Given the description of an element on the screen output the (x, y) to click on. 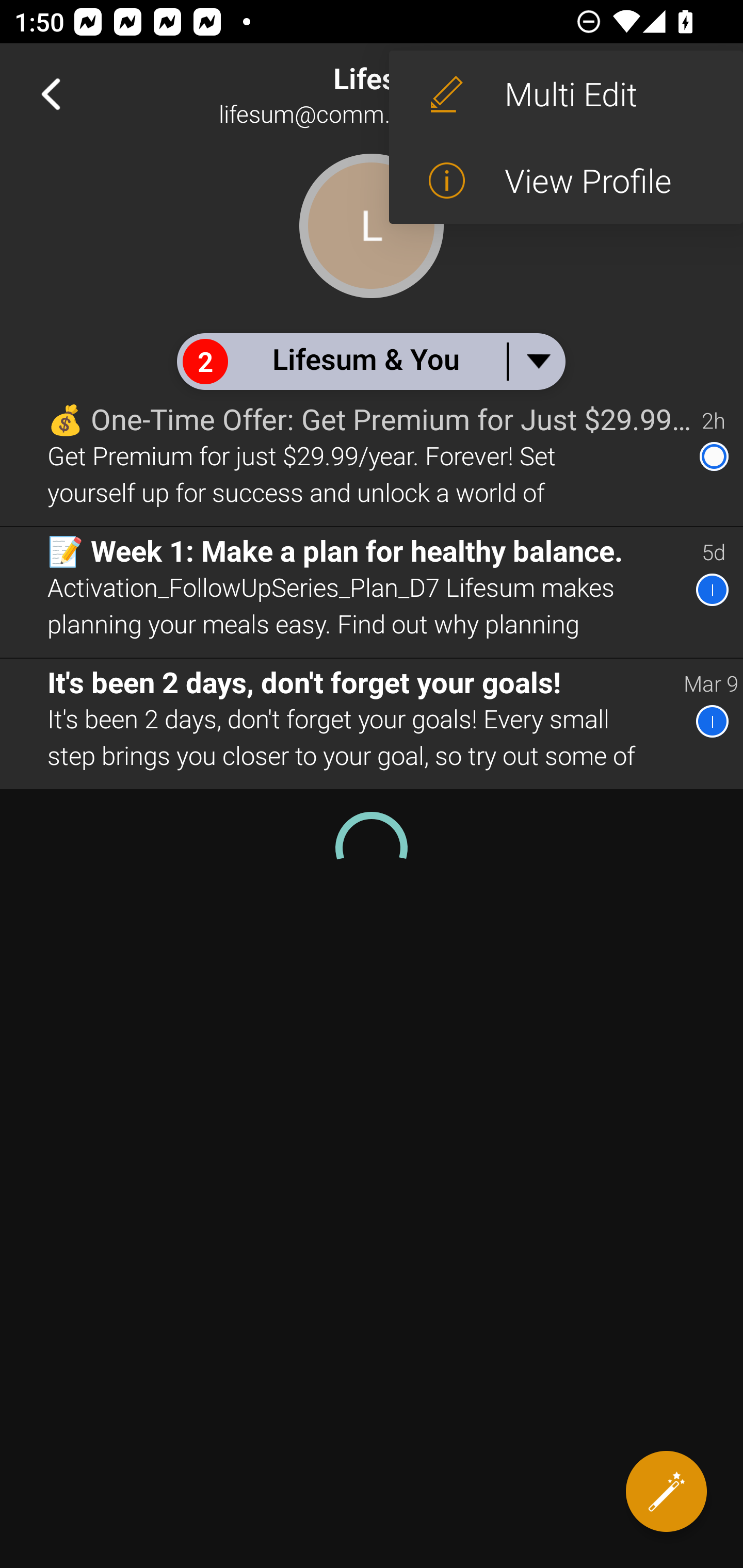
Multi Edit (566, 93)
View Profile (566, 180)
